Given the description of an element on the screen output the (x, y) to click on. 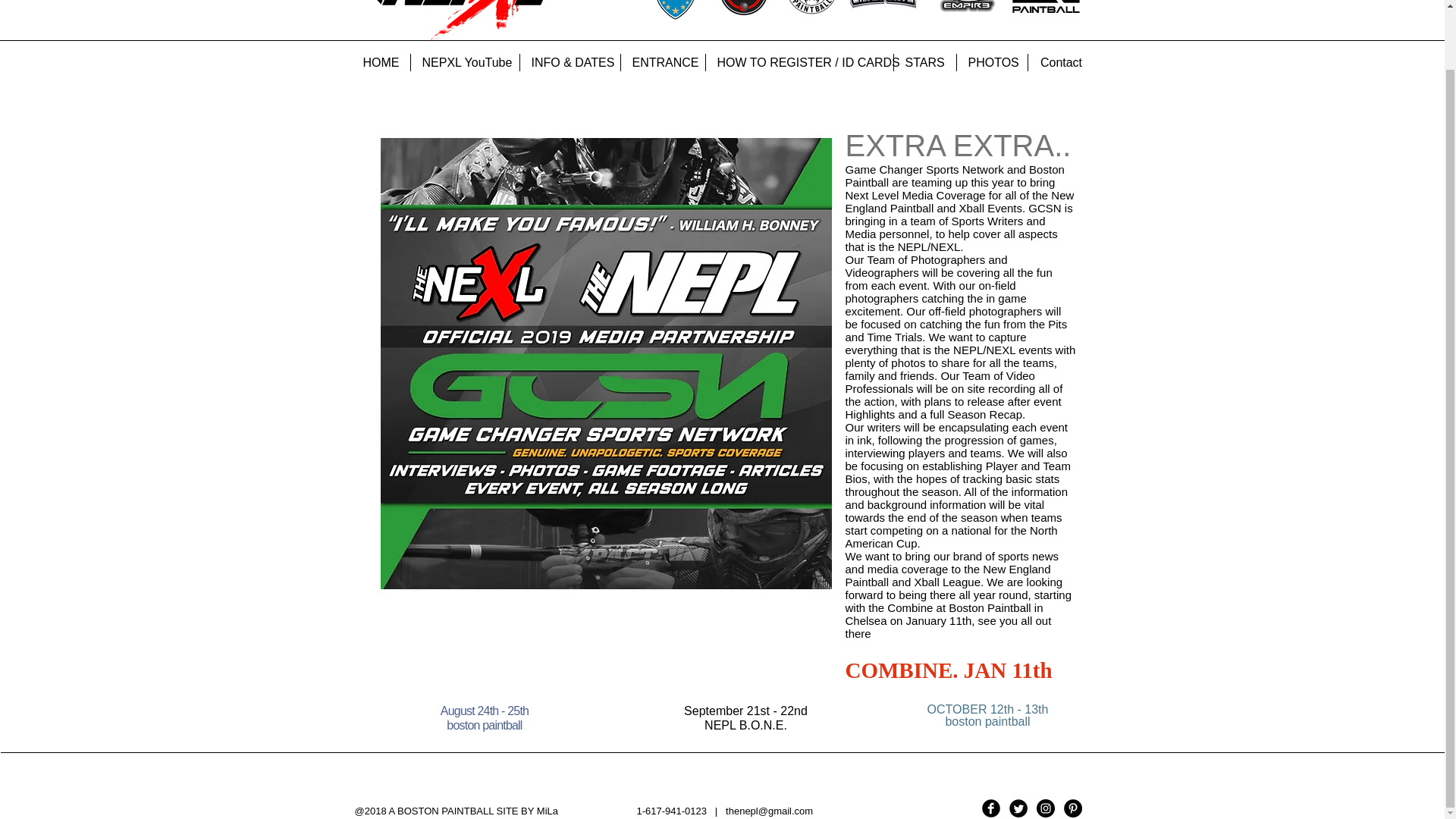
ENTRANCE (662, 62)
STARS (924, 62)
NEPXL YouTube (464, 62)
HOME (381, 62)
Contact (1060, 62)
PHOTOS (991, 62)
